Given the description of an element on the screen output the (x, y) to click on. 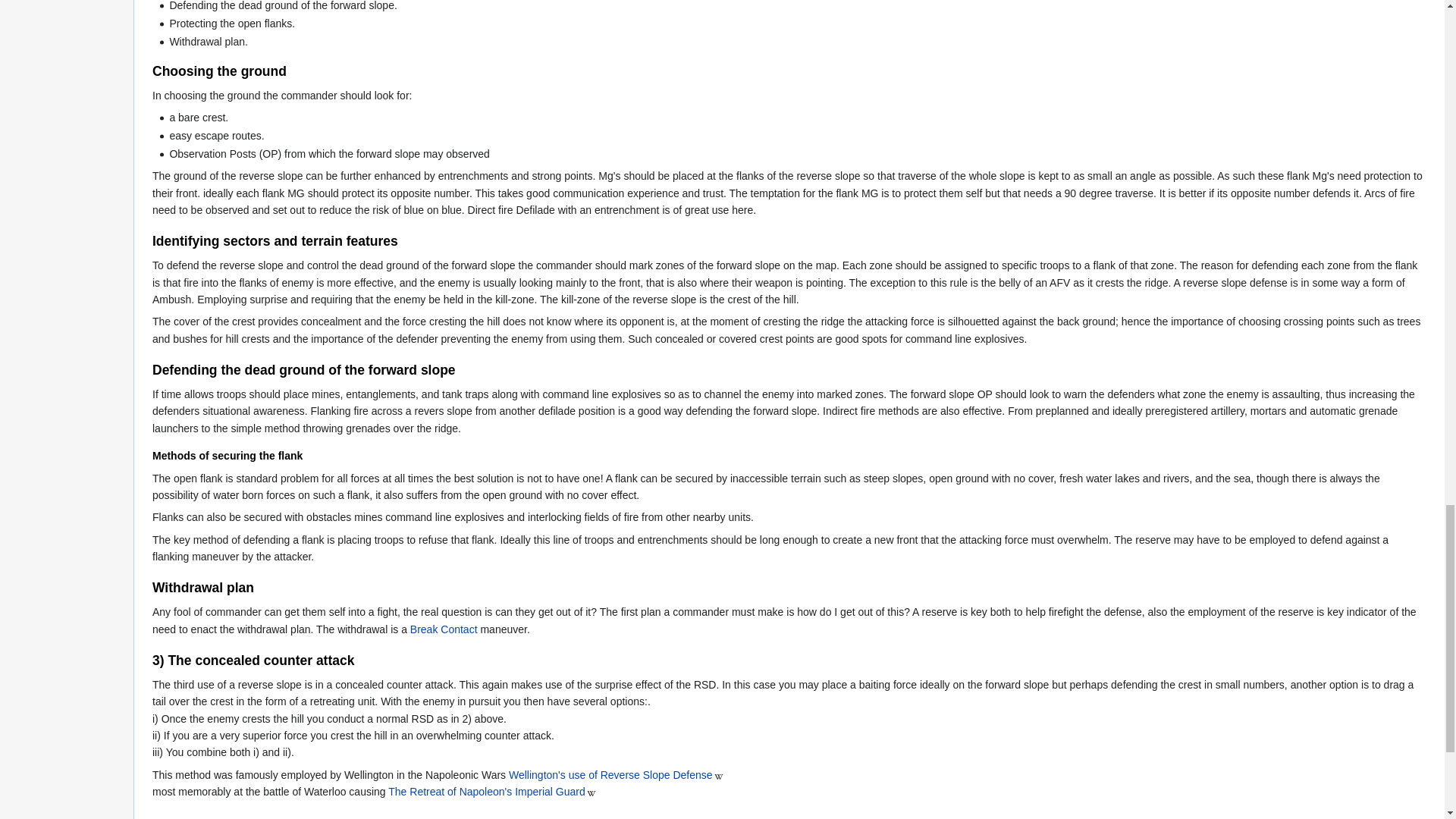
Break Contact (443, 629)
